Given the description of an element on the screen output the (x, y) to click on. 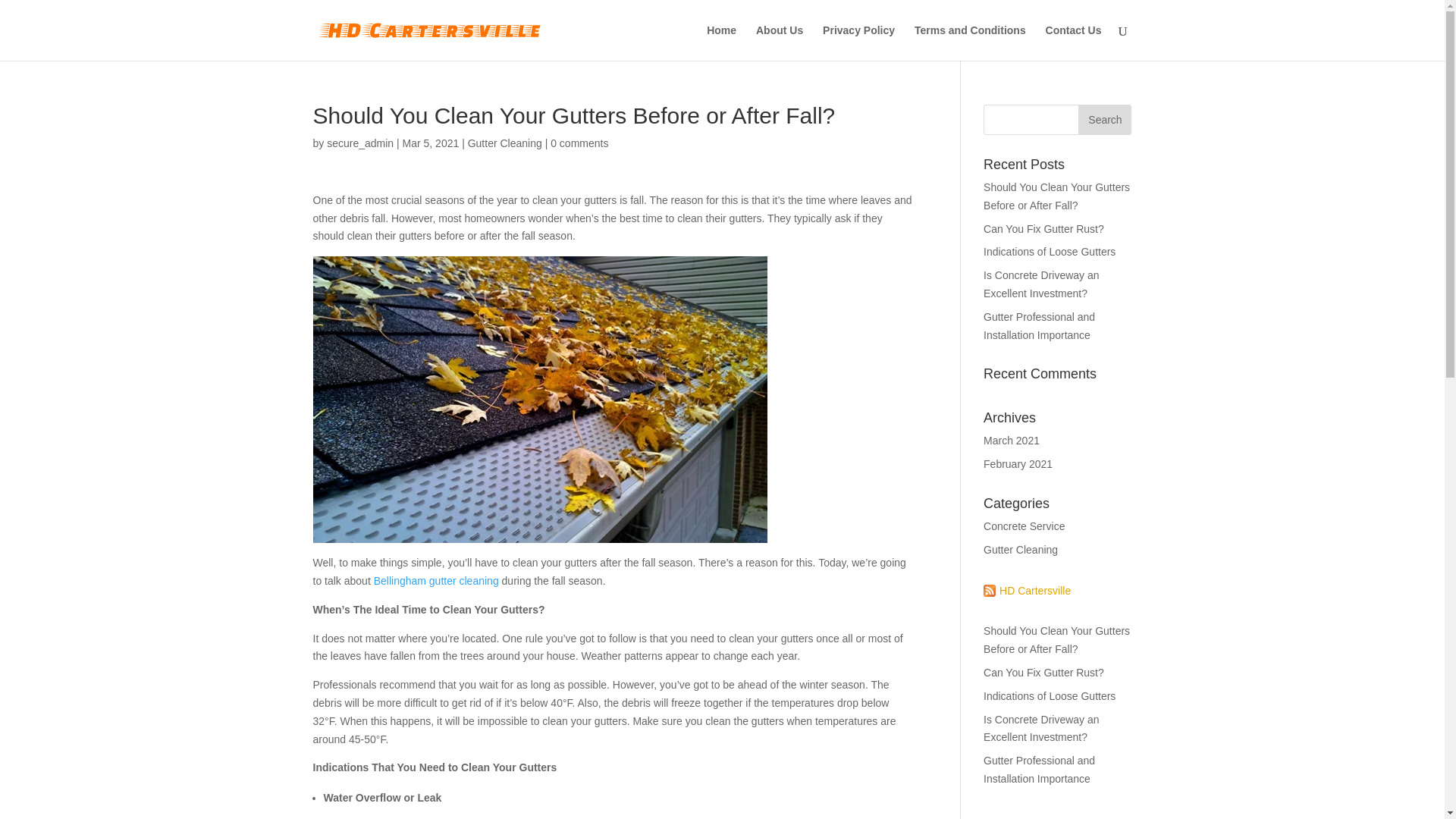
Gutter Cleaning (1021, 549)
Can You Fix Gutter Rust? (1043, 228)
Terms and Conditions (970, 42)
Should You Clean Your Gutters Before or After Fall? (1056, 195)
March 2021 (1011, 440)
HD Cartersville (1027, 590)
Is Concrete Driveway an Excellent Investment? (1041, 728)
0 comments (579, 143)
Gutter Professional and Installation Importance (1039, 326)
Search (1104, 119)
Privacy Policy (858, 42)
Gutter Professional and Installation Importance (1039, 769)
Bellingham gutter cleaning (436, 580)
Concrete Service (1024, 526)
Contact Us (1073, 42)
